Given the description of an element on the screen output the (x, y) to click on. 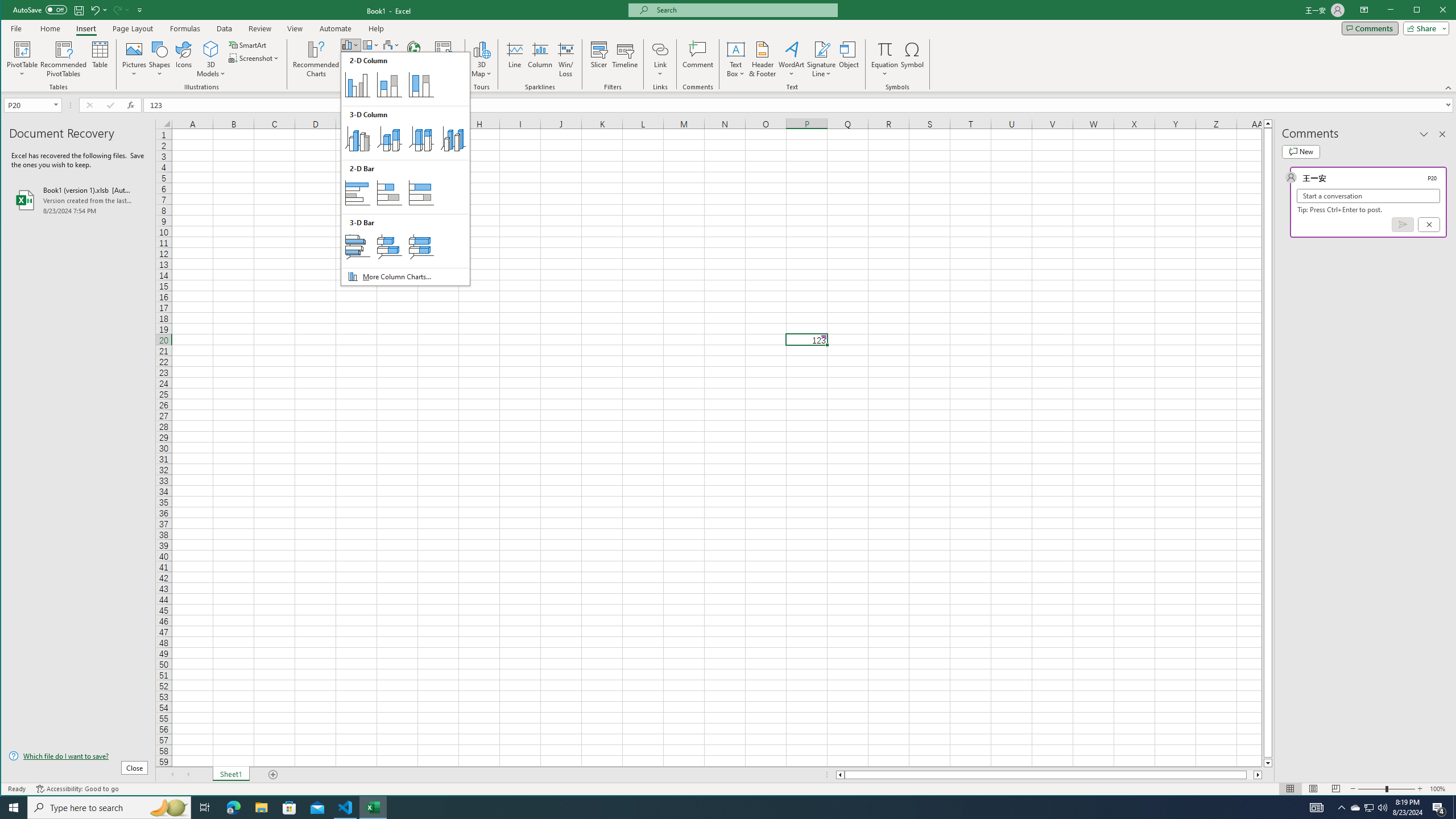
Microsoft search (1355, 807)
Action Center, 4 new notifications (742, 10)
View (1439, 807)
Visual Studio Code - 1 running window (294, 28)
Name Box (345, 807)
Table (32, 105)
Add Sheet (100, 59)
Scroll Right (272, 774)
Comments (188, 774)
Scroll Left (1369, 28)
Class: NetUIScrollBar (172, 774)
System (1048, 774)
Insert (11, 10)
Cancel (85, 28)
